Given the description of an element on the screen output the (x, y) to click on. 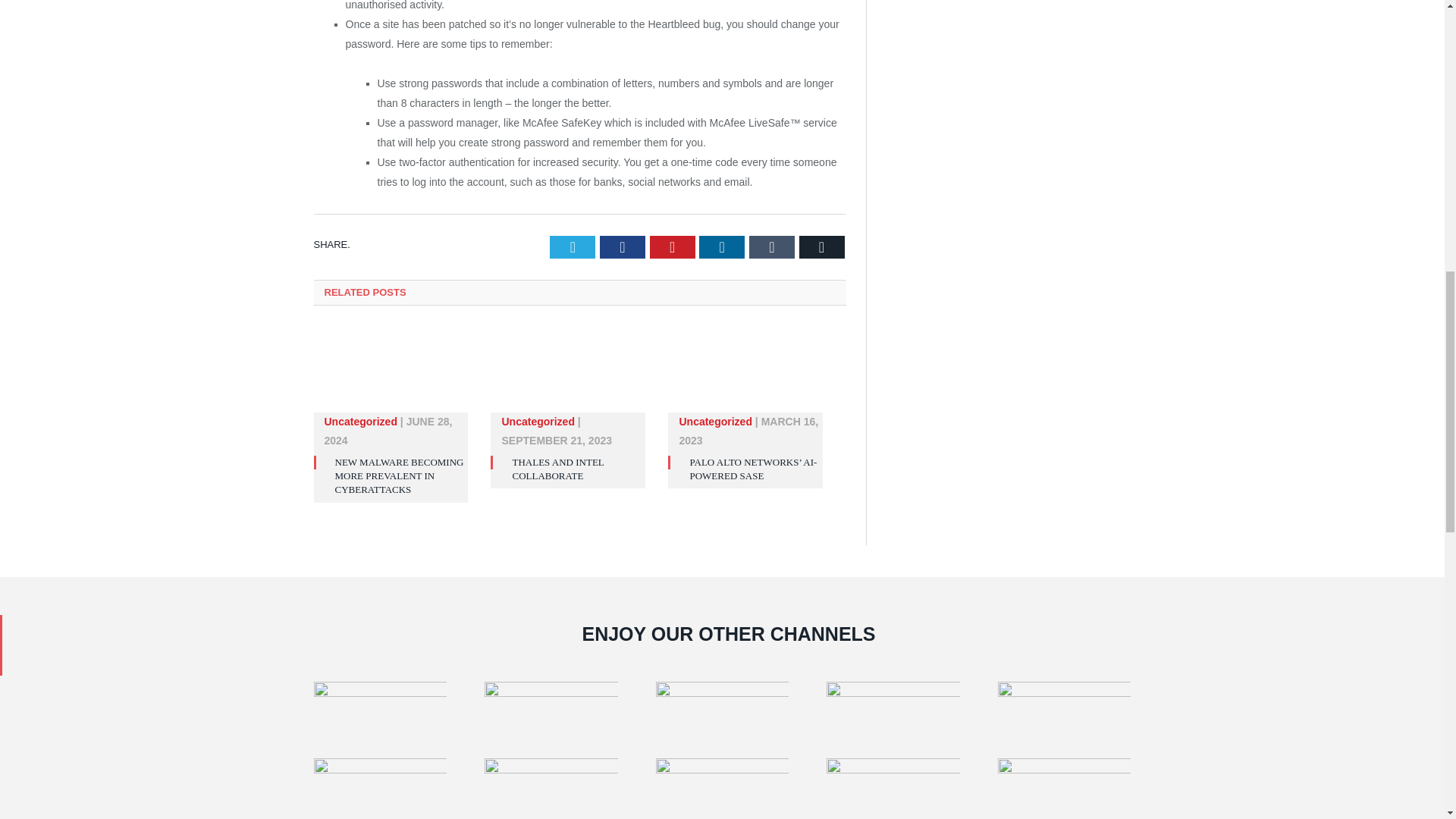
Share via Email (821, 246)
Share on Facebook (622, 246)
Share on Tumblr (771, 246)
New Malware Becoming More Prevalent in Cyberattacks (399, 475)
Tweet It (572, 246)
Share on Pinterest (672, 246)
Share on LinkedIn (721, 246)
New Malware Becoming More Prevalent in Cyberattacks (391, 376)
